Given the description of an element on the screen output the (x, y) to click on. 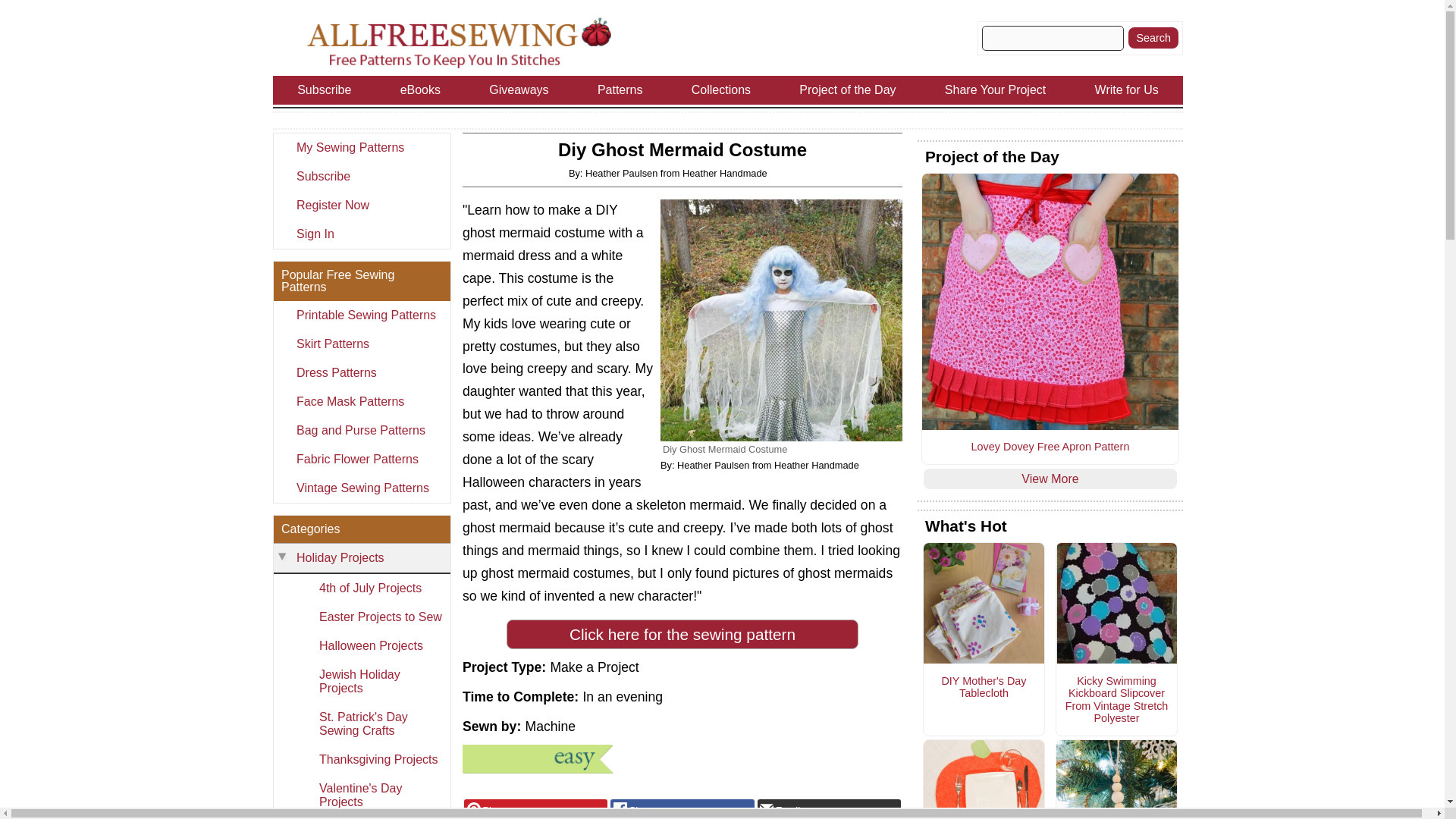
Subscribe (361, 176)
Search (1152, 37)
My Sewing Patterns (361, 147)
Register Now (361, 205)
Facebook (682, 809)
Email (829, 809)
Sign In (361, 234)
Diy Ghost Mermaid Costume (781, 320)
